Given the description of an element on the screen output the (x, y) to click on. 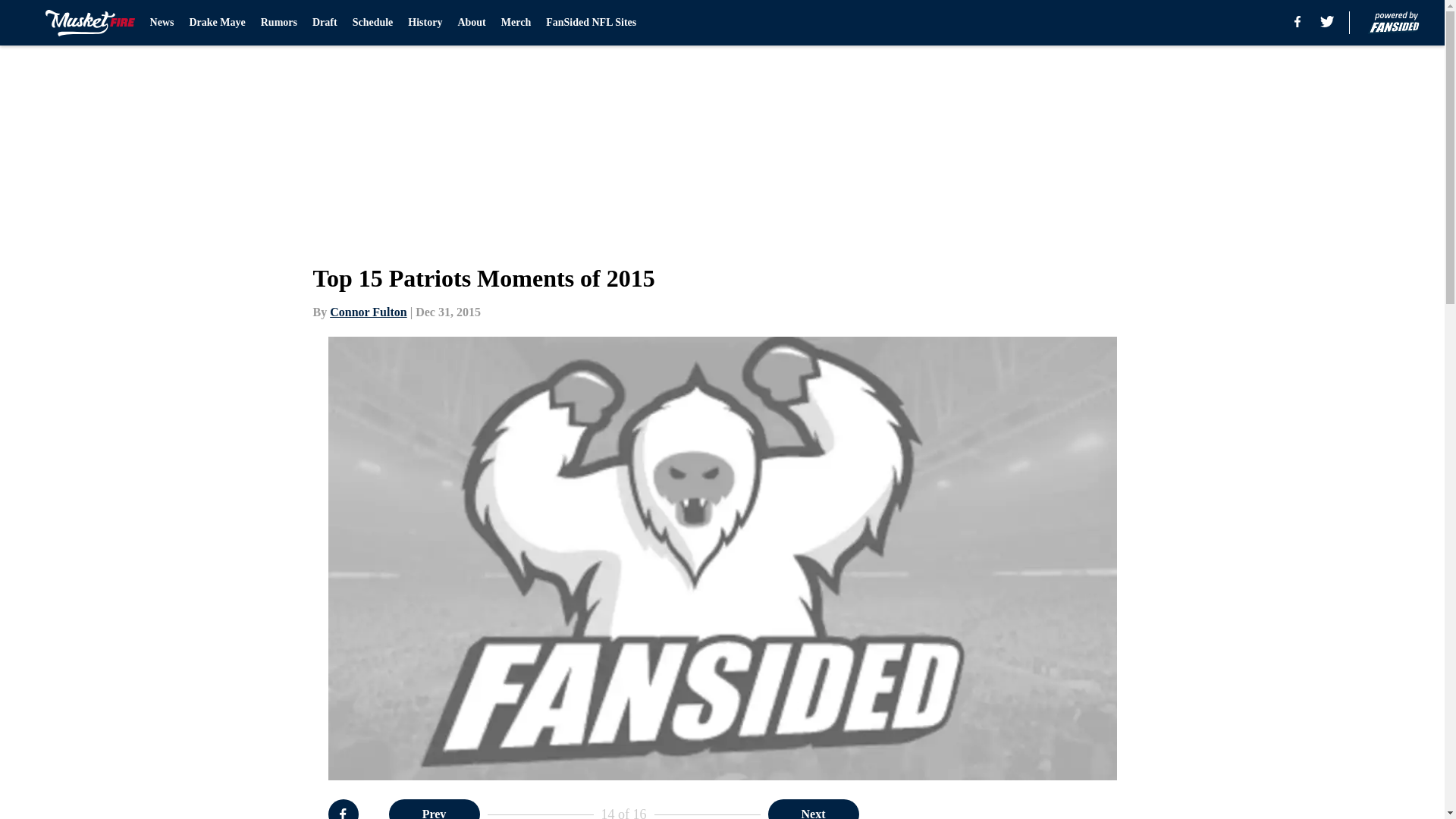
Next (813, 809)
Rumors (278, 22)
Schedule (372, 22)
Connor Fulton (368, 311)
News (161, 22)
Merch (515, 22)
FanSided NFL Sites (591, 22)
About (470, 22)
Draft (325, 22)
Drake Maye (216, 22)
